Given the description of an element on the screen output the (x, y) to click on. 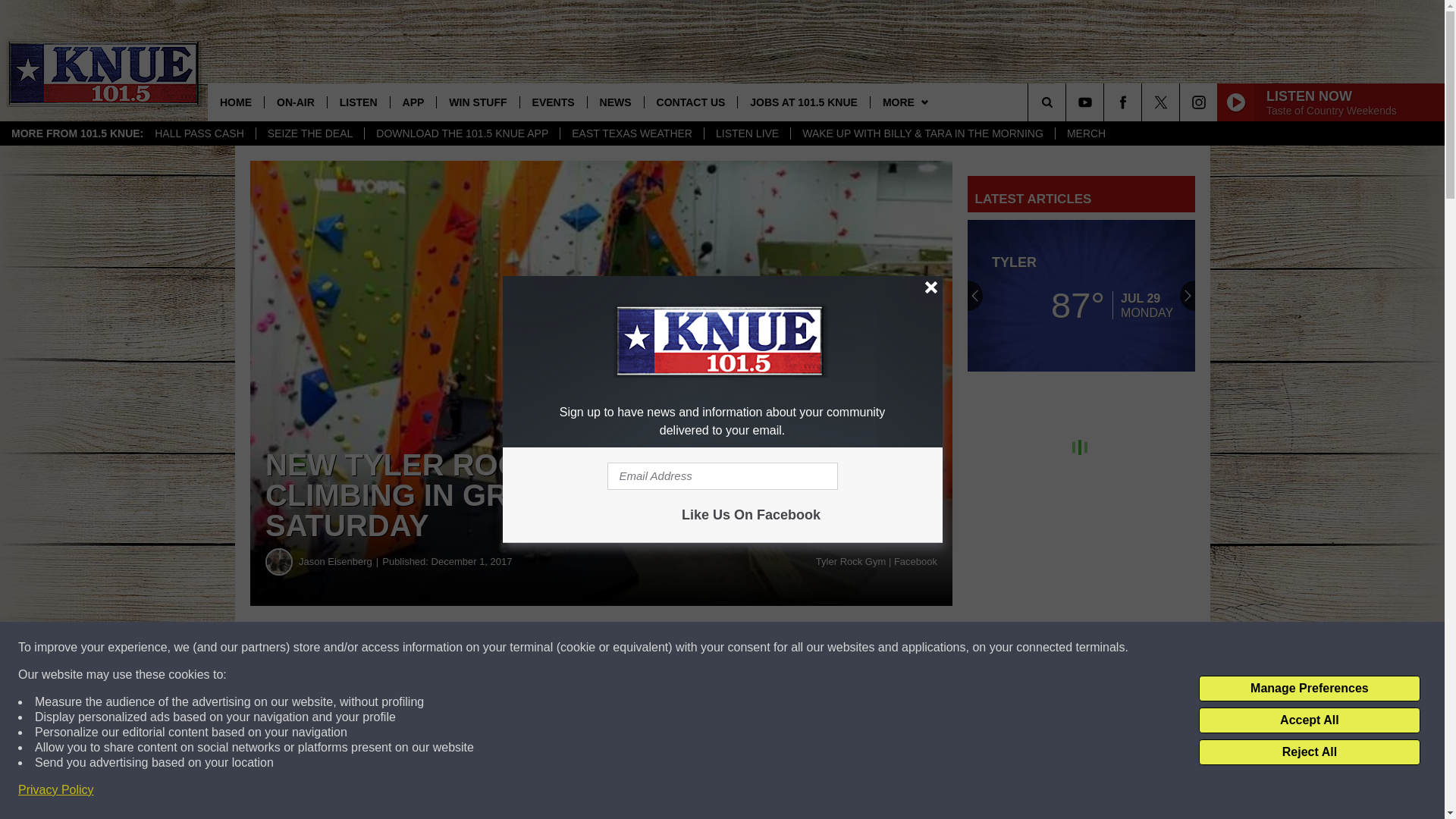
Privacy Policy (55, 789)
SEARCH (1068, 102)
DOWNLOAD THE 101.5 KNUE APP (461, 133)
Share on Twitter (741, 647)
Manage Preferences (1309, 688)
Share on Facebook (460, 647)
HOME (235, 102)
Email Address (722, 475)
Accept All (1309, 720)
ON-AIR (294, 102)
SEARCH (1068, 102)
LISTEN (358, 102)
SEIZE THE DEAL (310, 133)
EAST TEXAS WEATHER (631, 133)
Reject All (1309, 751)
